Given the description of an element on the screen output the (x, y) to click on. 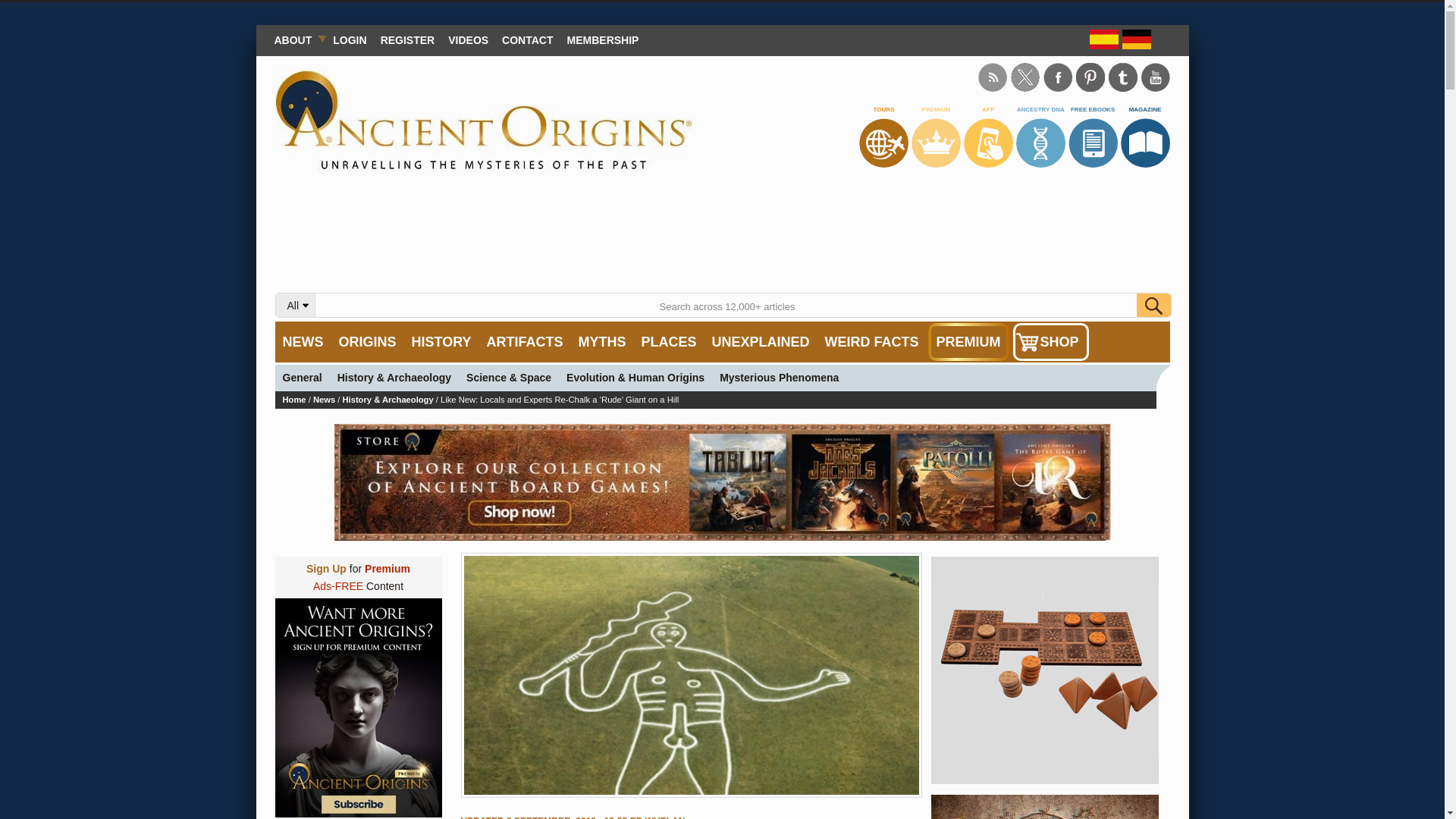
Find (1152, 304)
REGISTER (408, 40)
VIDEOS (468, 40)
MEMBERSHIP (603, 40)
Become a registered user (408, 40)
CONTACT (526, 40)
ABOUT (296, 40)
Video Gallery (468, 40)
LOGIN (349, 40)
